Given the description of an element on the screen output the (x, y) to click on. 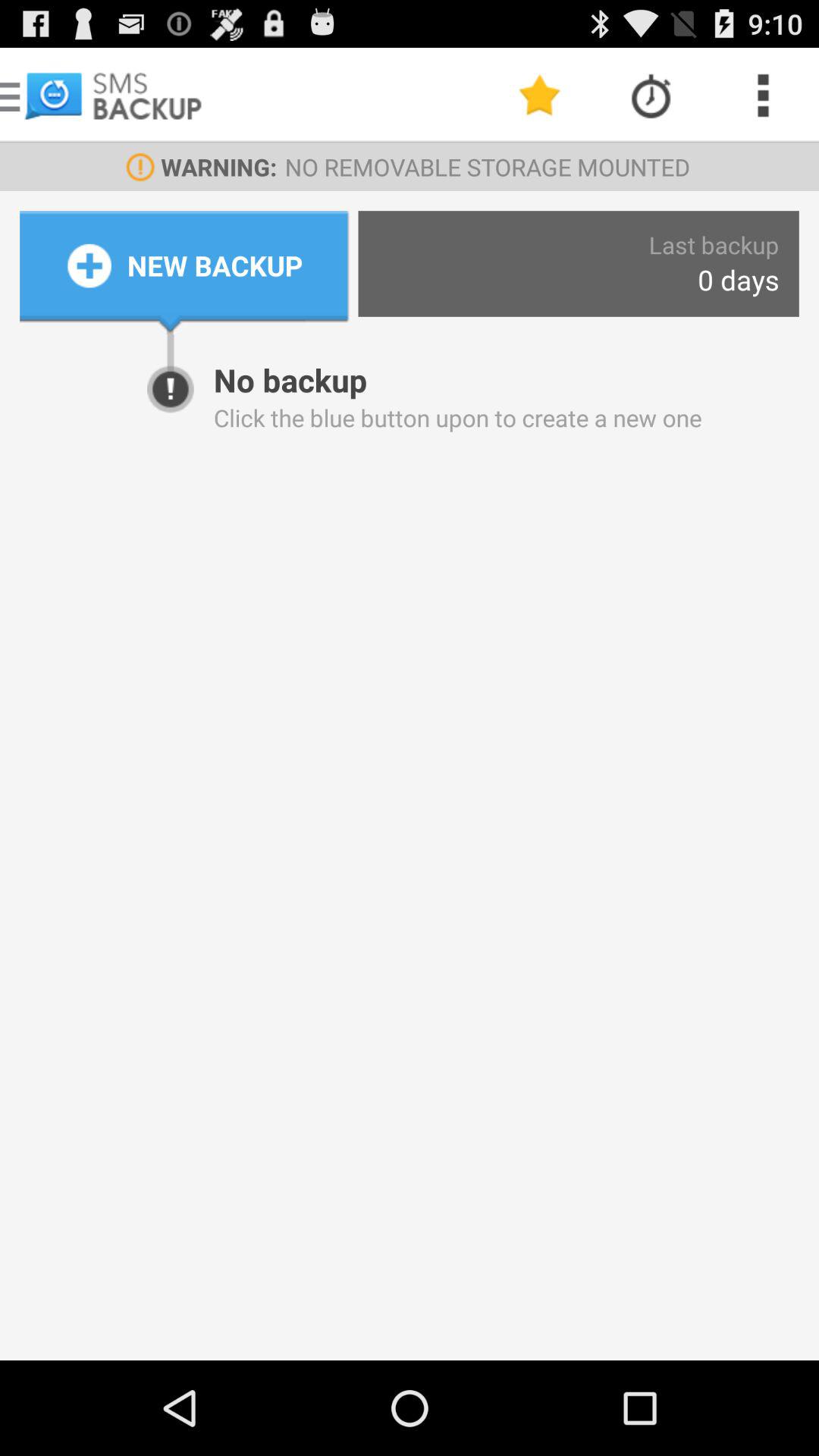
press the icon above the no removable storage icon (651, 95)
